Given the description of an element on the screen output the (x, y) to click on. 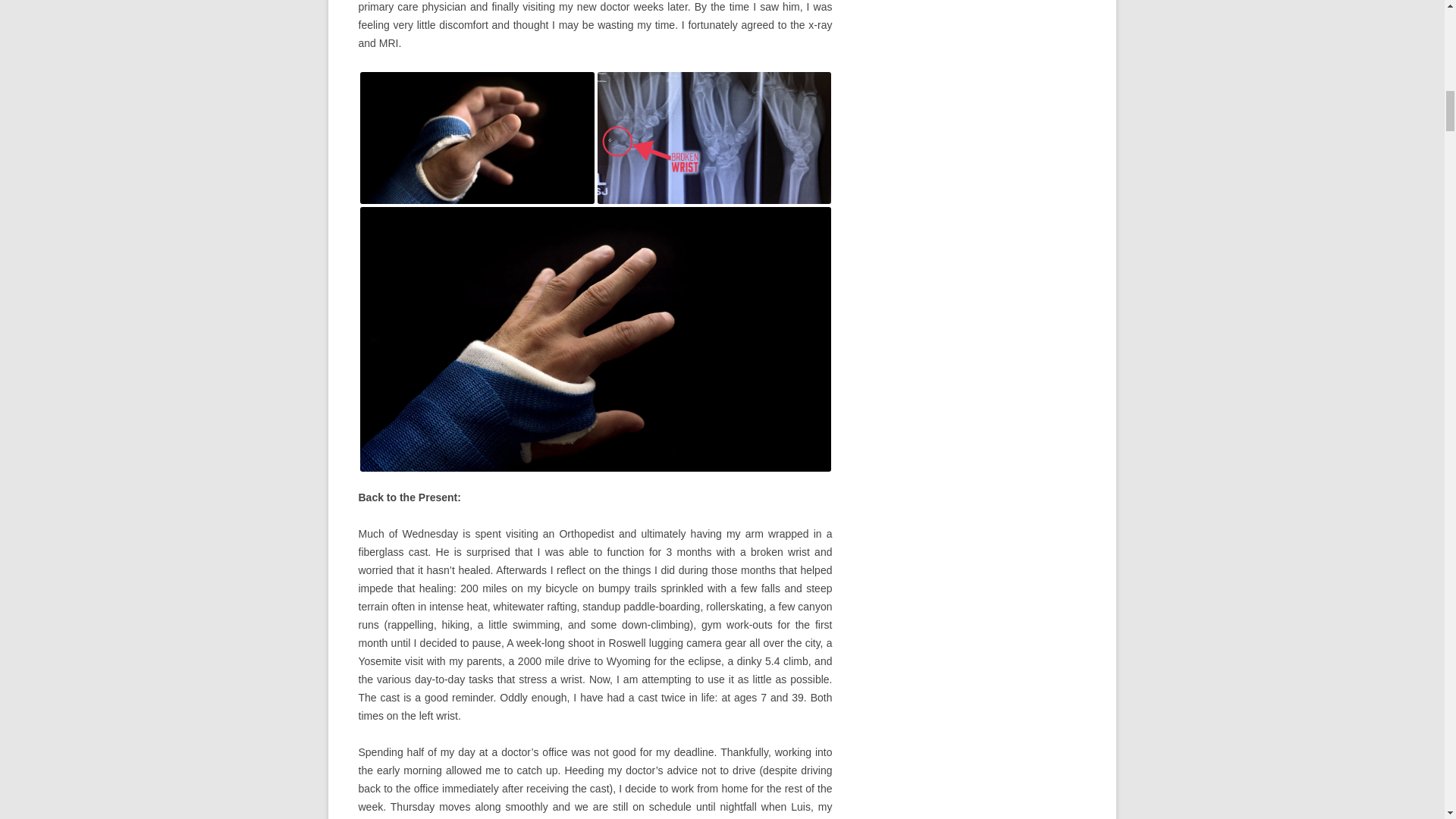
castproduct002 (476, 137)
xray001 (713, 137)
castproduct001 (594, 339)
